Given the description of an element on the screen output the (x, y) to click on. 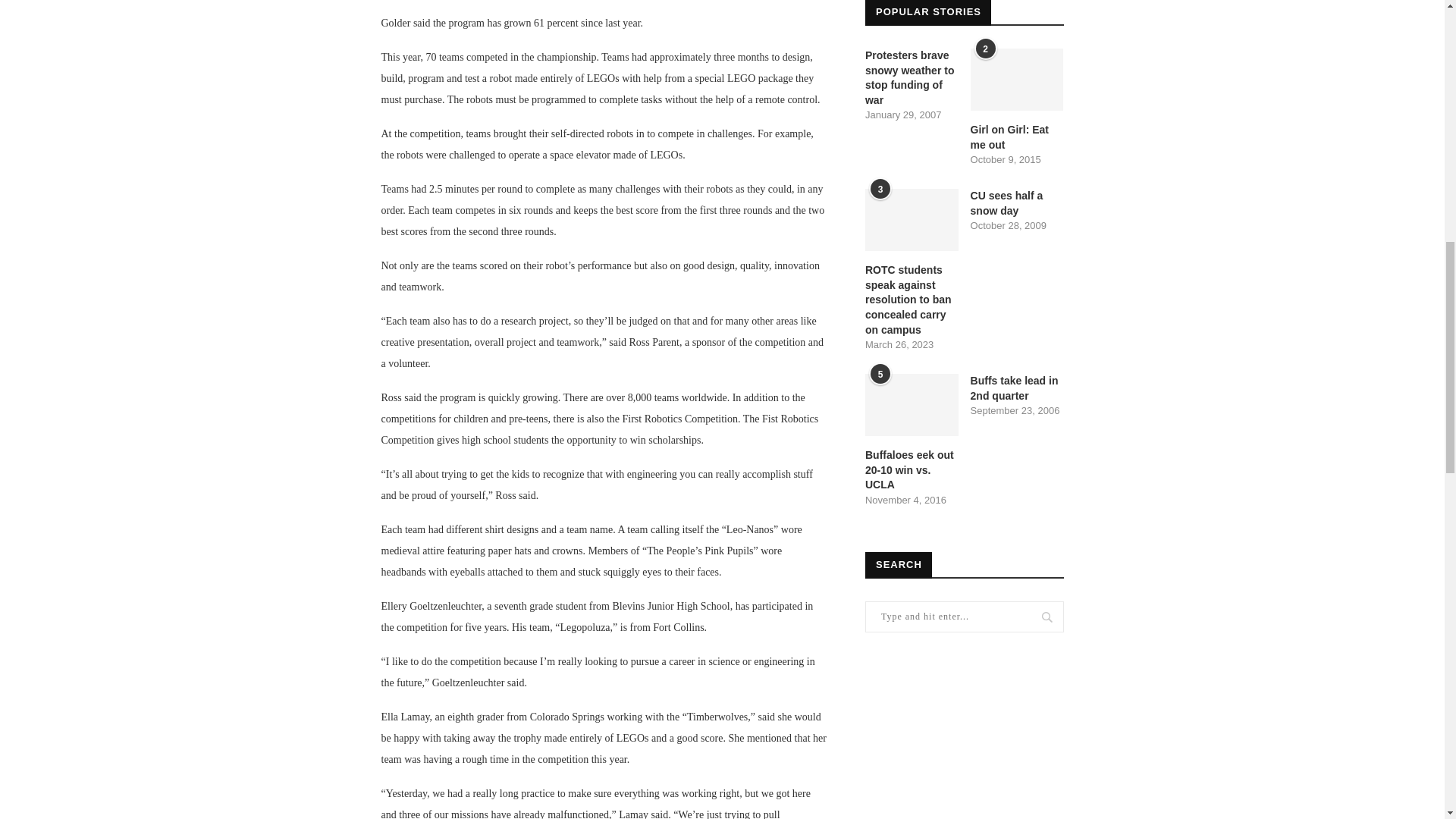
Girl on Girl: Eat me out (1017, 137)
Girl on Girl: Eat me out (1017, 79)
Protesters brave snowy weather to stop funding of war (911, 77)
CU sees half a snow day (1017, 203)
Buffaloes eek out 20-10 win vs. UCLA (911, 404)
